Given the description of an element on the screen output the (x, y) to click on. 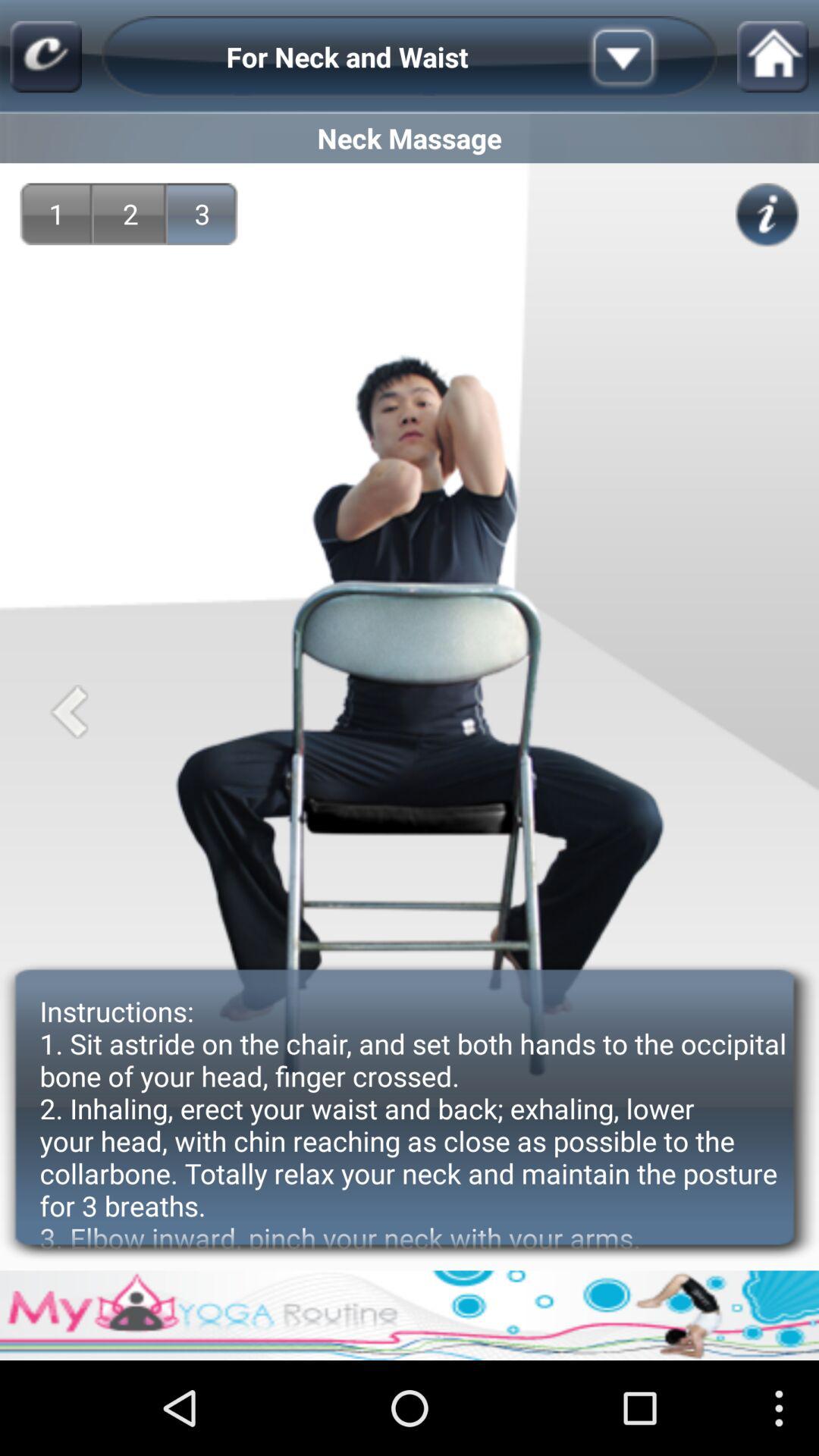
open item above the neck massage item (646, 56)
